Given the description of an element on the screen output the (x, y) to click on. 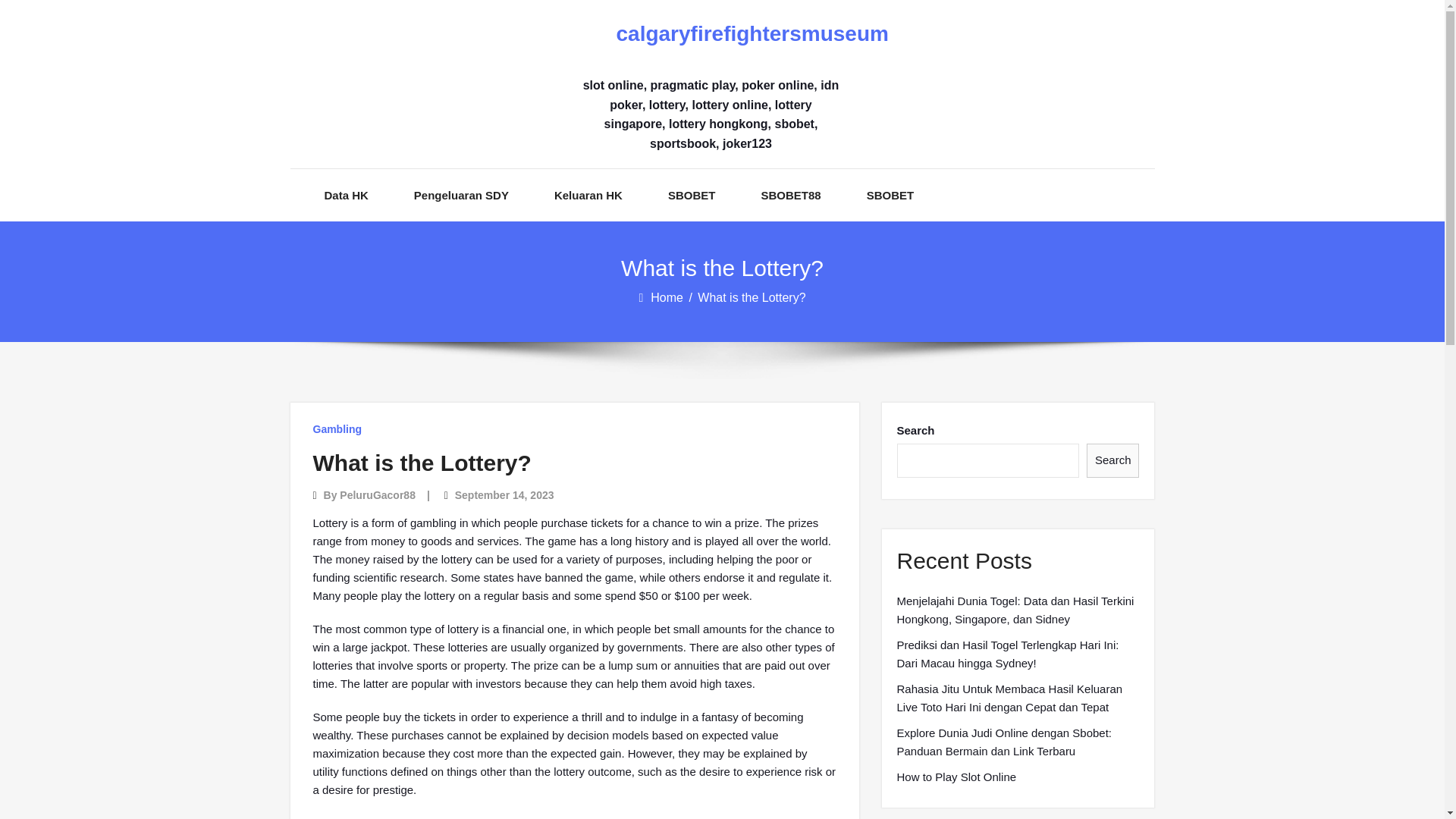
SBOBET (890, 194)
How to Play Slot Online (956, 777)
September 14, 2023 (504, 494)
Gambling (337, 428)
SBOBET88 (790, 194)
Search (1113, 460)
Keluaran HK (588, 194)
